Given the description of an element on the screen output the (x, y) to click on. 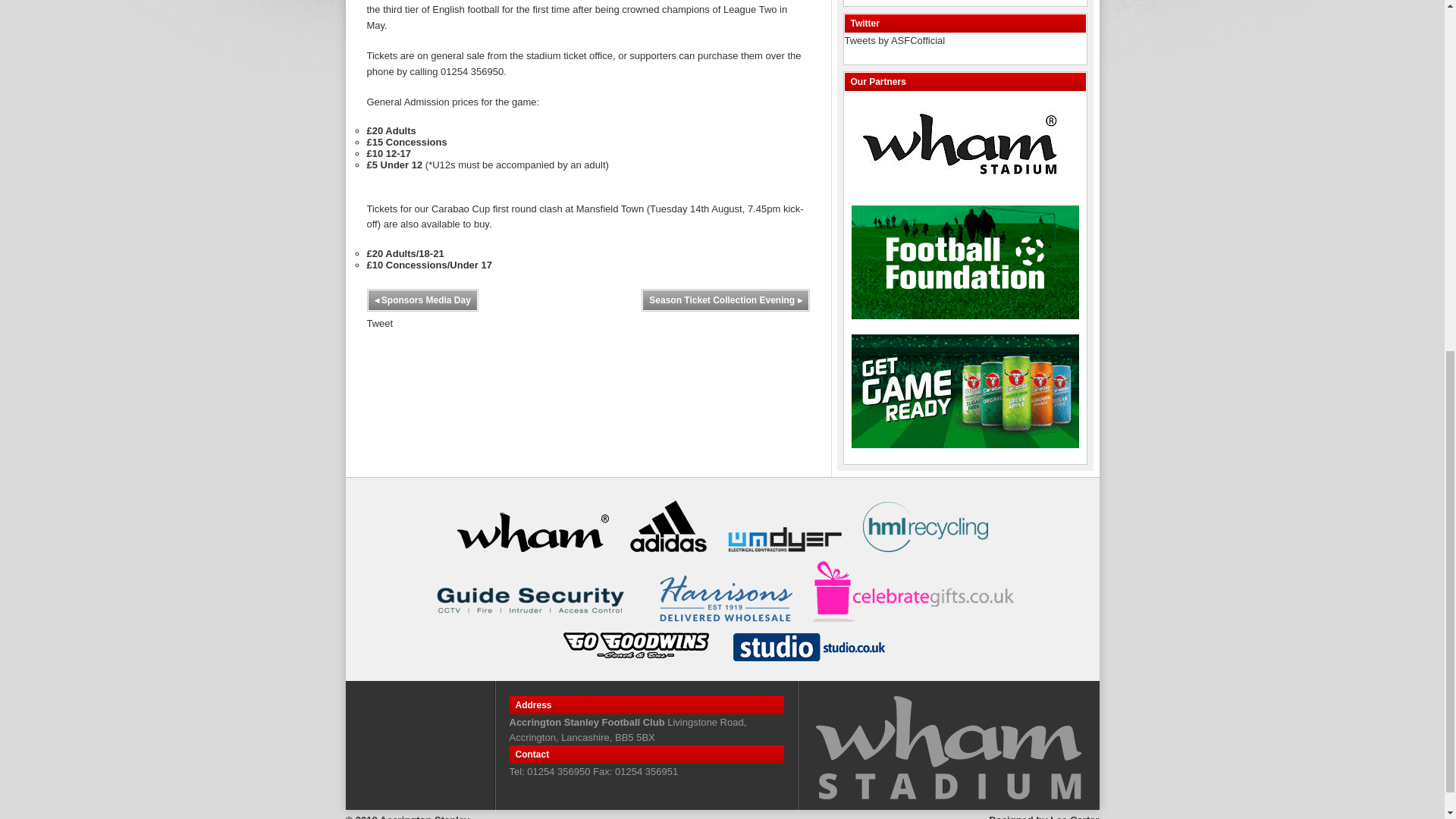
Studio (807, 646)
Go Goodwins (635, 644)
Harrisons (725, 598)
Adidas (667, 526)
Advertisement (957, 1)
Wham (532, 529)
Guide Security (532, 600)
WM Dyer (784, 539)
HML (925, 527)
Celebrate Gifts (915, 590)
